Given the description of an element on the screen output the (x, y) to click on. 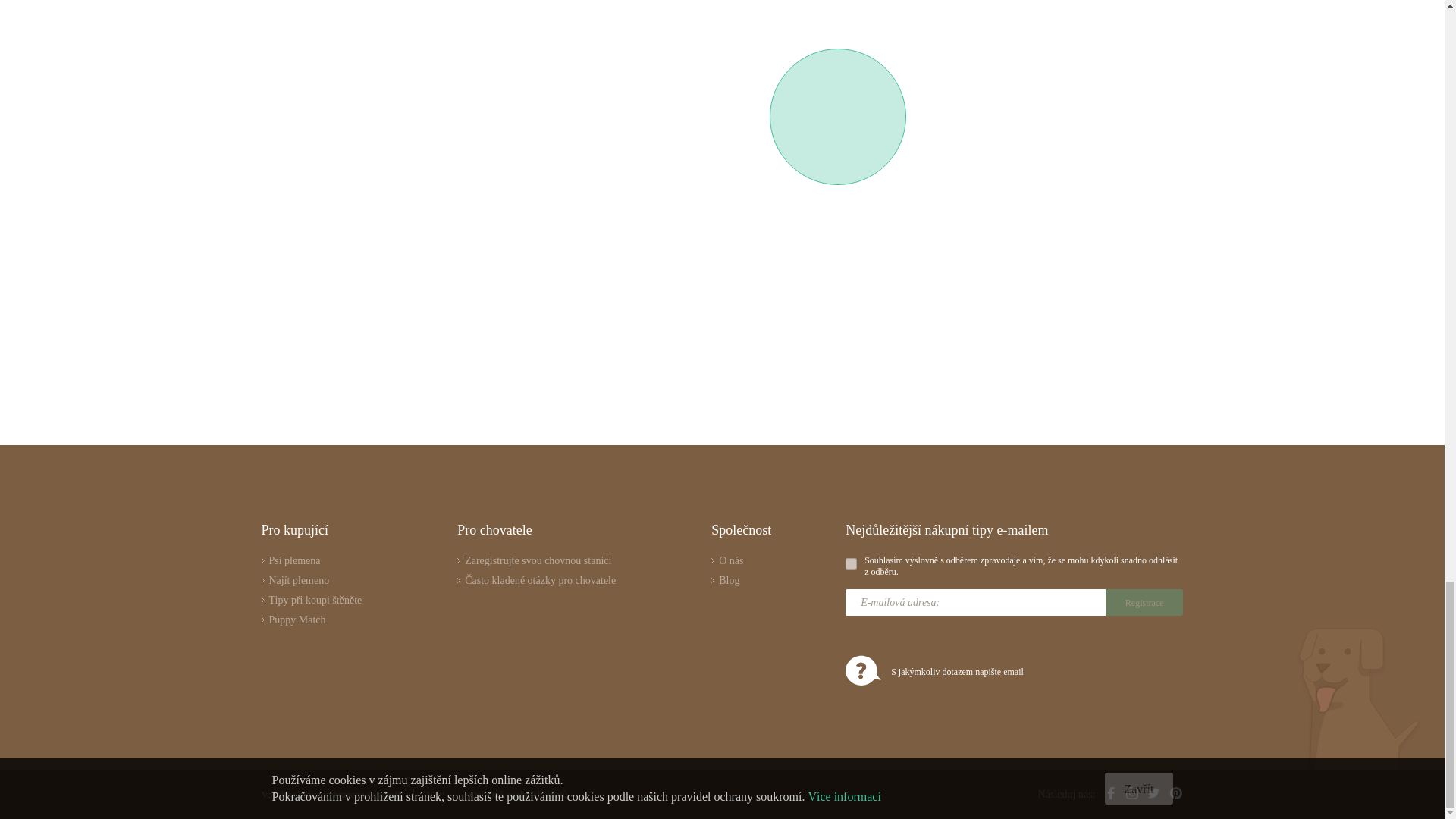
Puppy Match (310, 620)
VSP (435, 794)
Zaregistrujte svou chovnou stanici (536, 561)
Blog (741, 580)
email (1013, 671)
Registrace (1144, 601)
